Given the description of an element on the screen output the (x, y) to click on. 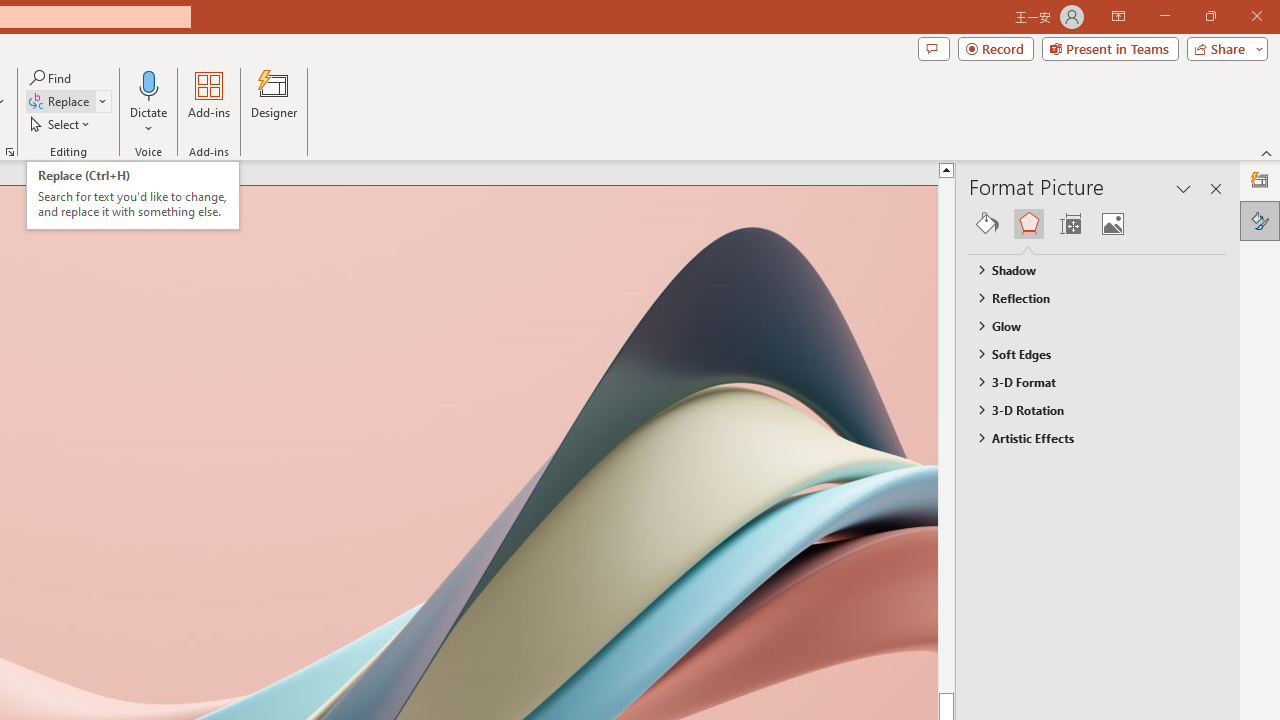
Replace... (60, 101)
Format Object... (9, 151)
3-D Format (1088, 381)
Dictate (149, 84)
Line up (983, 169)
Close pane (1215, 188)
Picture (1112, 223)
Effects (1028, 223)
Size & Properties (1070, 223)
Select (61, 124)
Glow (1088, 325)
Collapse the Ribbon (1267, 152)
Share (1223, 48)
